Given the description of an element on the screen output the (x, y) to click on. 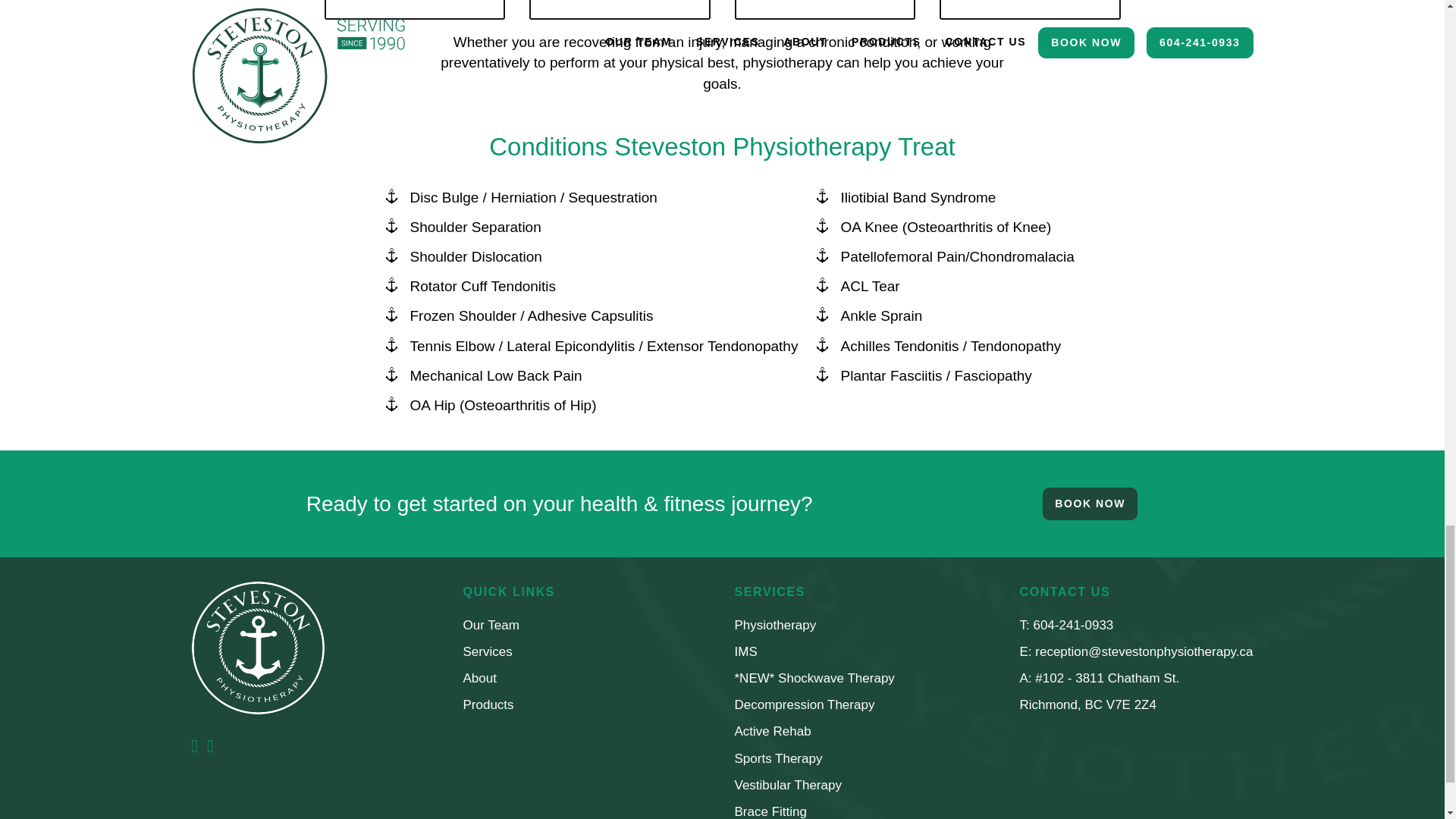
Products (488, 704)
BOOK NOW (1090, 503)
IMS (745, 651)
Our Team (490, 625)
Decompression Therapy (804, 704)
About (479, 677)
Services (487, 651)
Physiotherapy (774, 625)
